Given the description of an element on the screen output the (x, y) to click on. 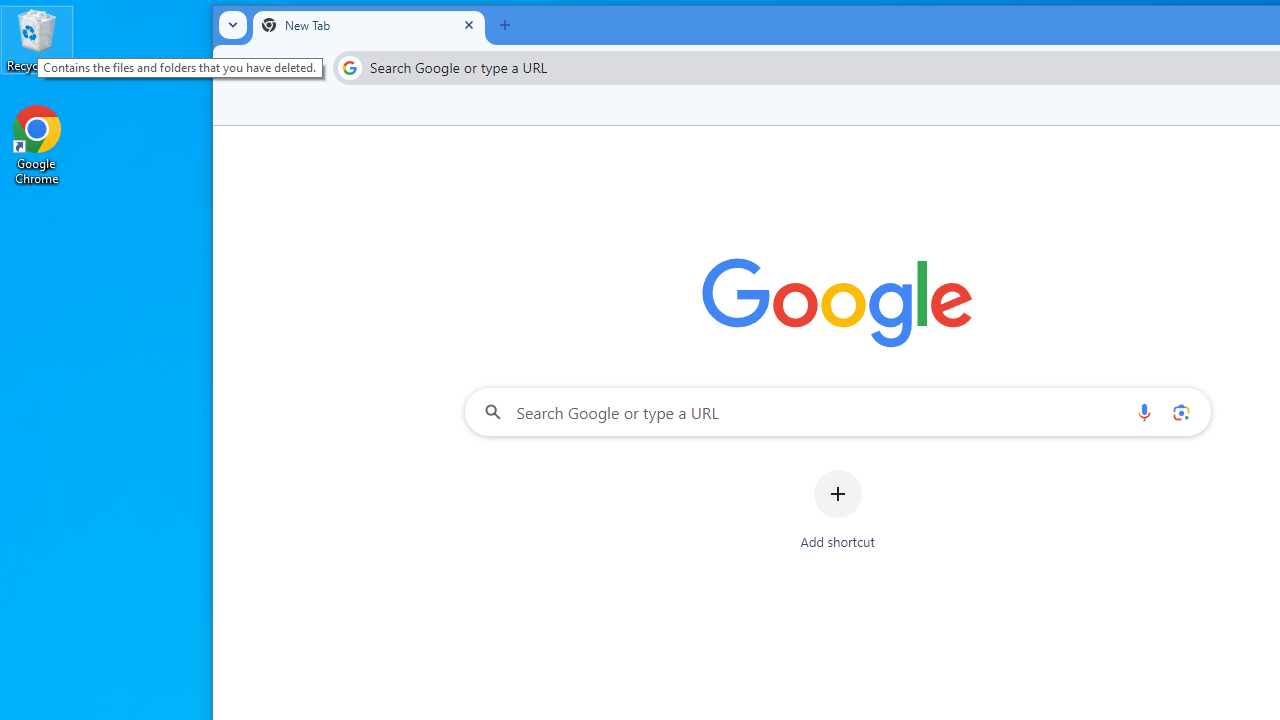
Recycle Bin (37, 39)
Google Chrome (37, 144)
